Given the description of an element on the screen output the (x, y) to click on. 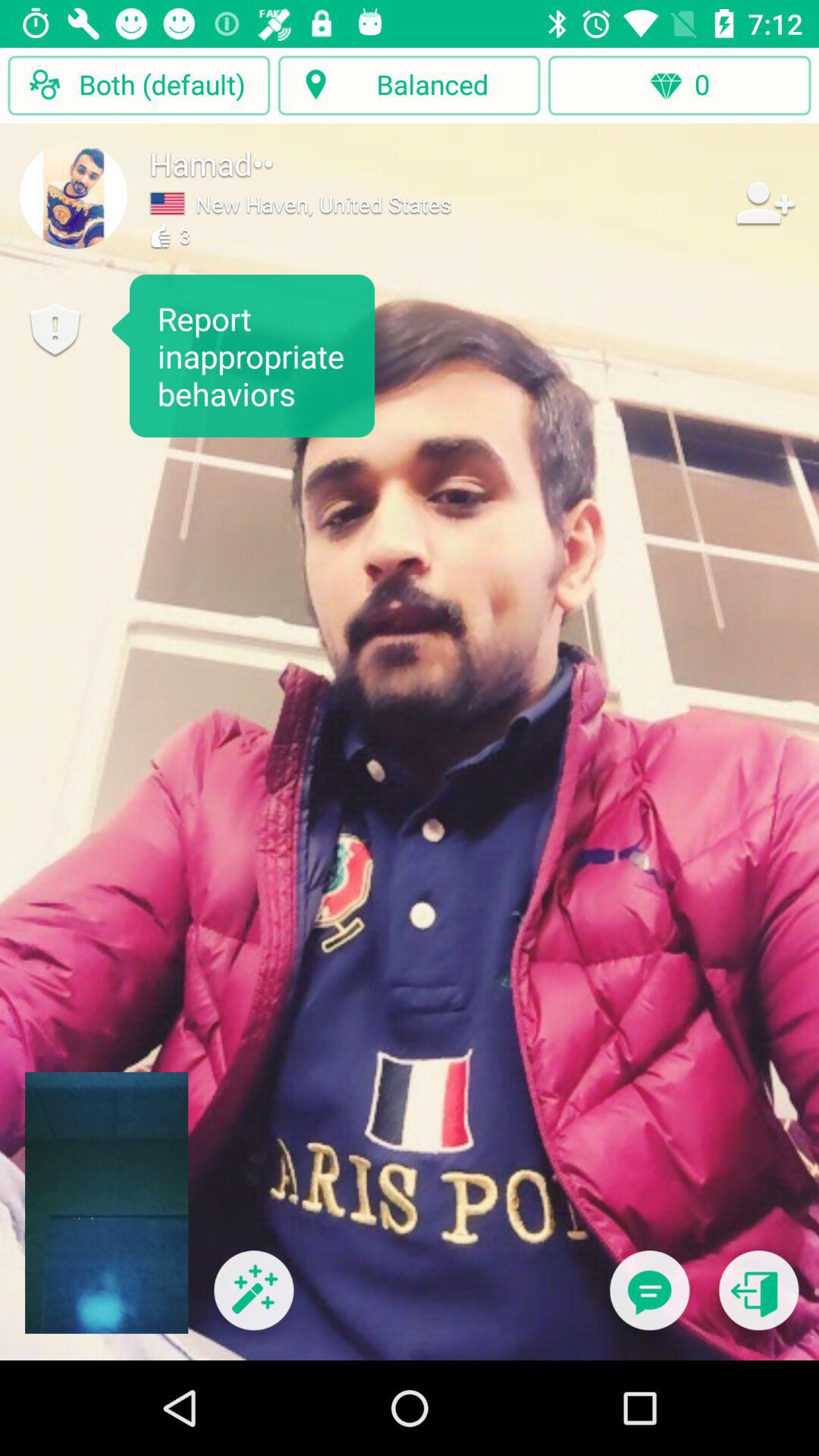
select the icon above report inappropriate behaviors item (73, 195)
